Given the description of an element on the screen output the (x, y) to click on. 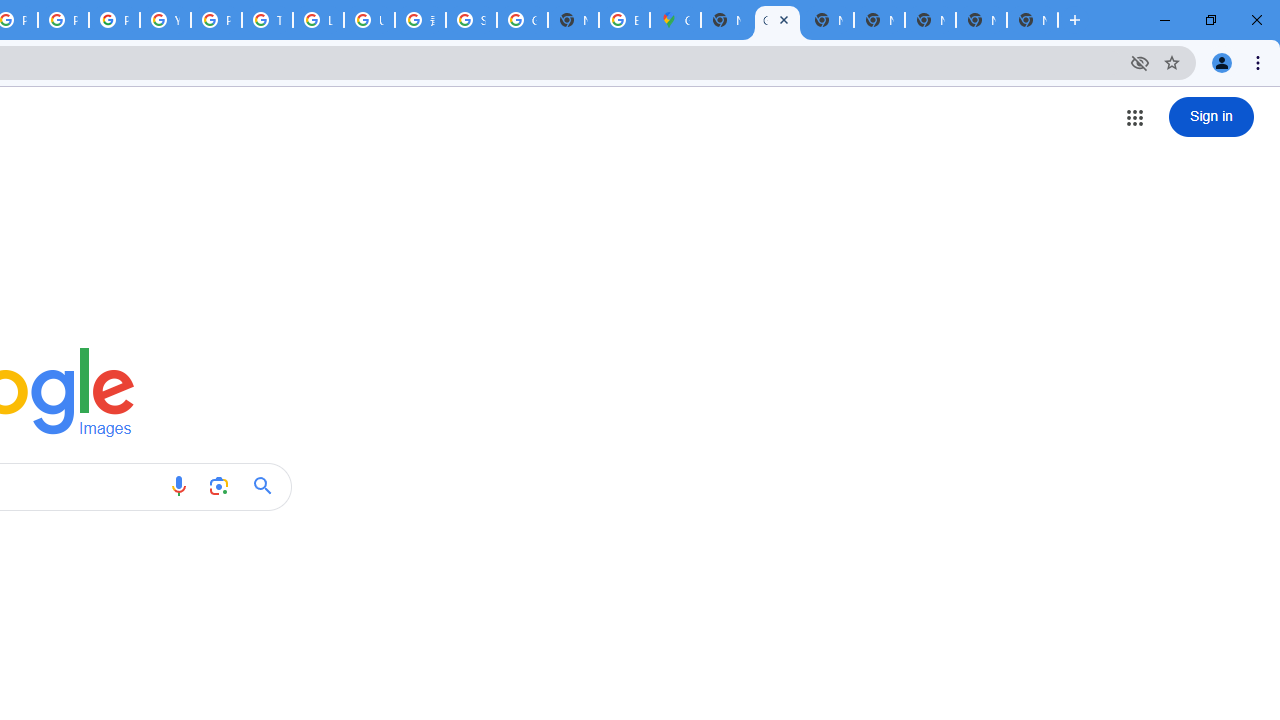
Search by image (218, 485)
Google Search (268, 485)
Explore new street-level details - Google Maps Help (624, 20)
Google Maps (675, 20)
